Given the description of an element on the screen output the (x, y) to click on. 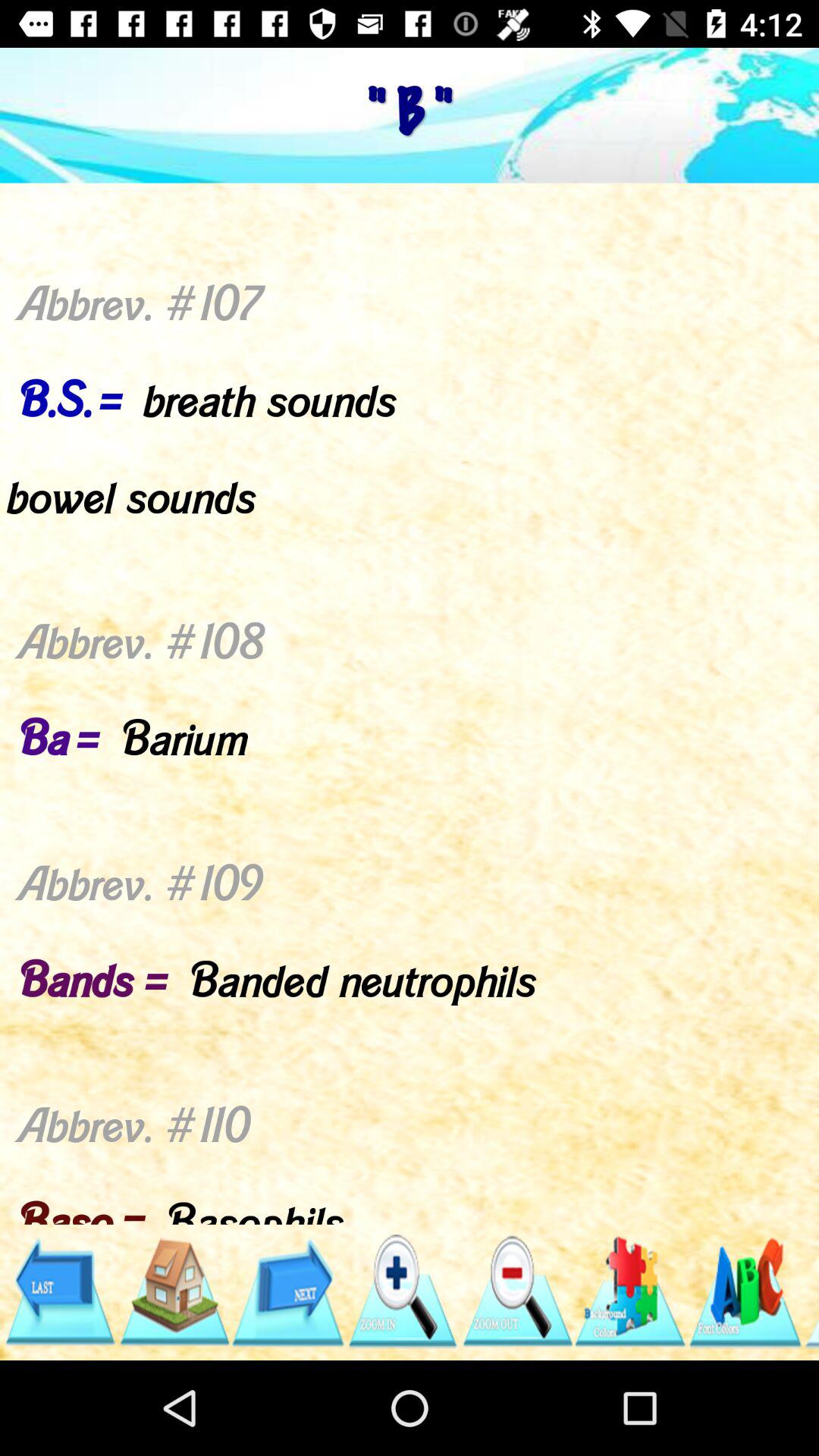
zoom out (516, 1291)
